Given the description of an element on the screen output the (x, y) to click on. 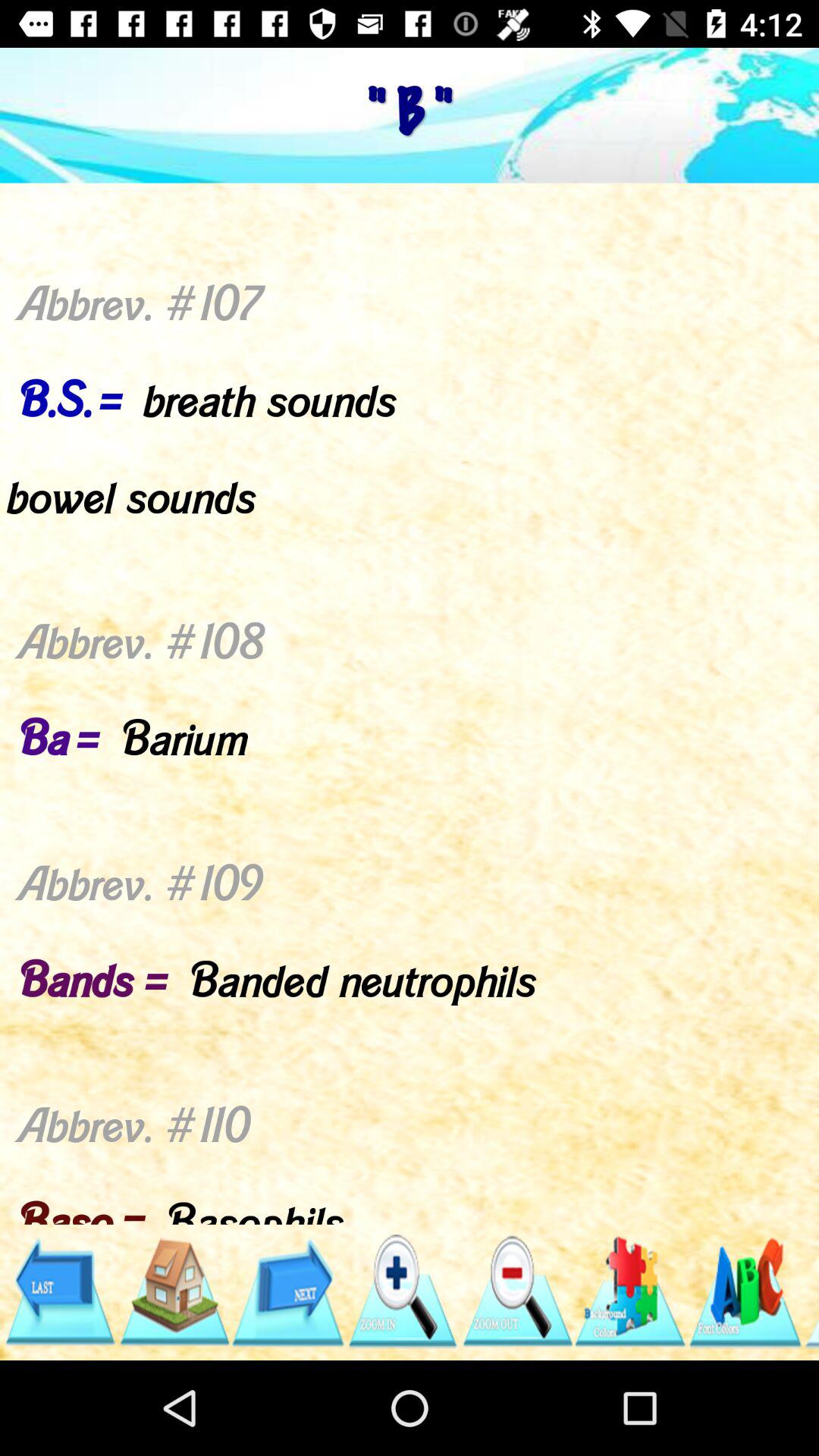
zoom out (516, 1291)
